Given the description of an element on the screen output the (x, y) to click on. 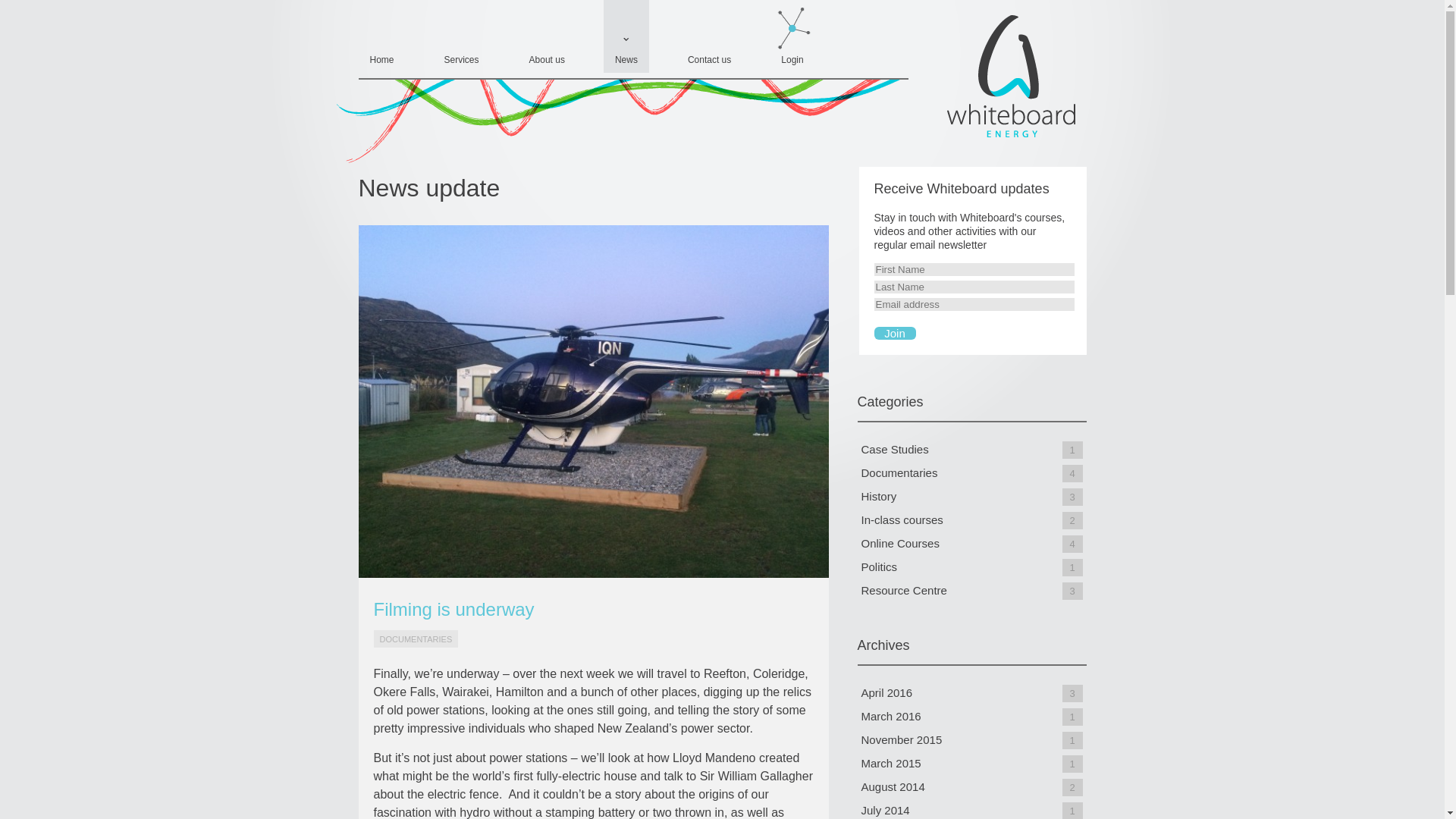
August 2014 (892, 786)
April 2016 (886, 692)
Contact us (709, 36)
Case Studies (894, 449)
March 2015 (891, 762)
July 2014 (885, 809)
Join (894, 332)
Documentaries (899, 472)
Online Courses (900, 543)
In-class courses (902, 519)
